Given the description of an element on the screen output the (x, y) to click on. 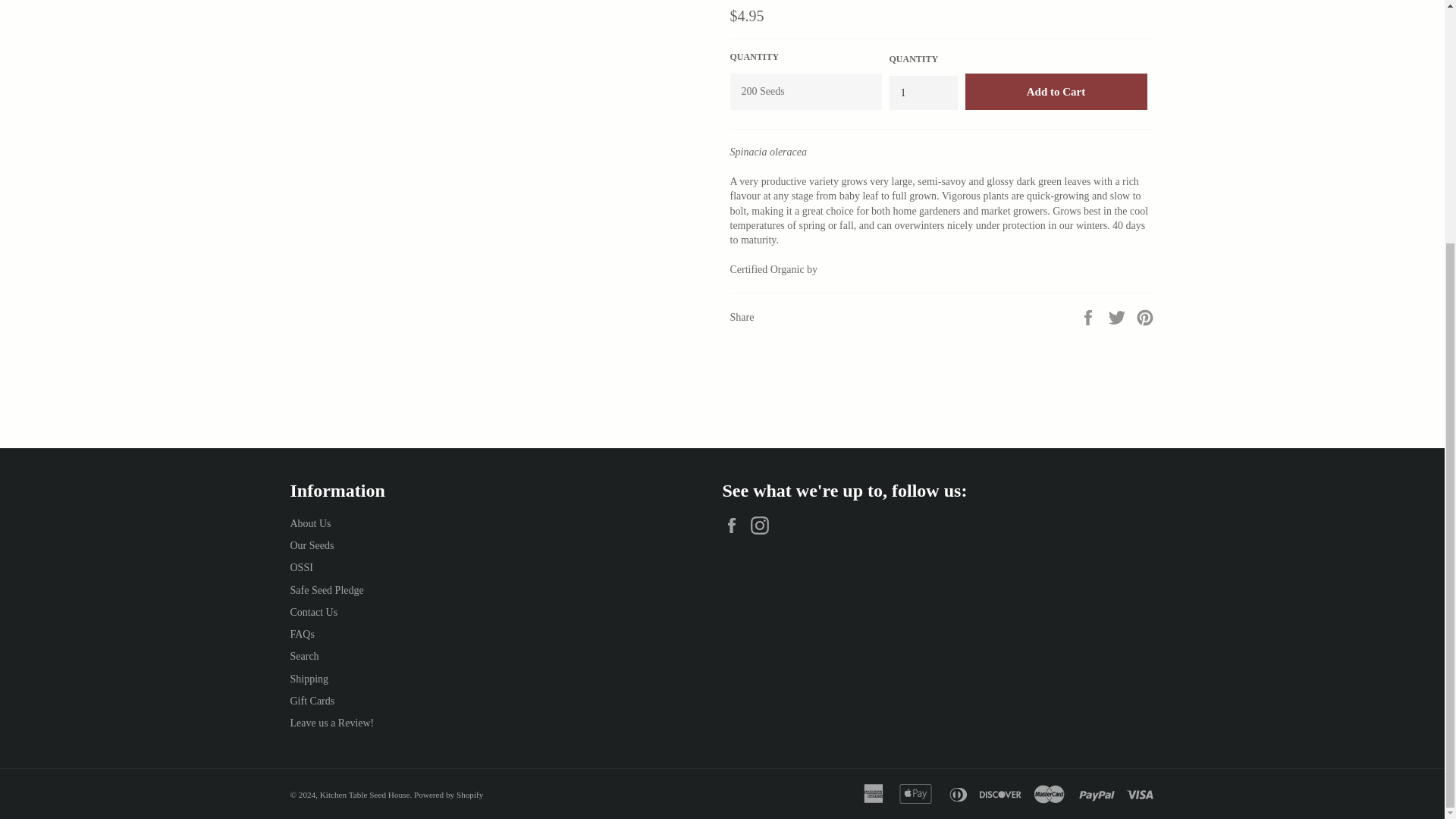
Tweet on Twitter (1118, 316)
Kitchen Table Seed House on Facebook (735, 525)
1 (922, 92)
Pin on Pinterest (1144, 316)
Share on Facebook (1089, 316)
Kitchen Table Seed House on Instagram (763, 525)
